Given the description of an element on the screen output the (x, y) to click on. 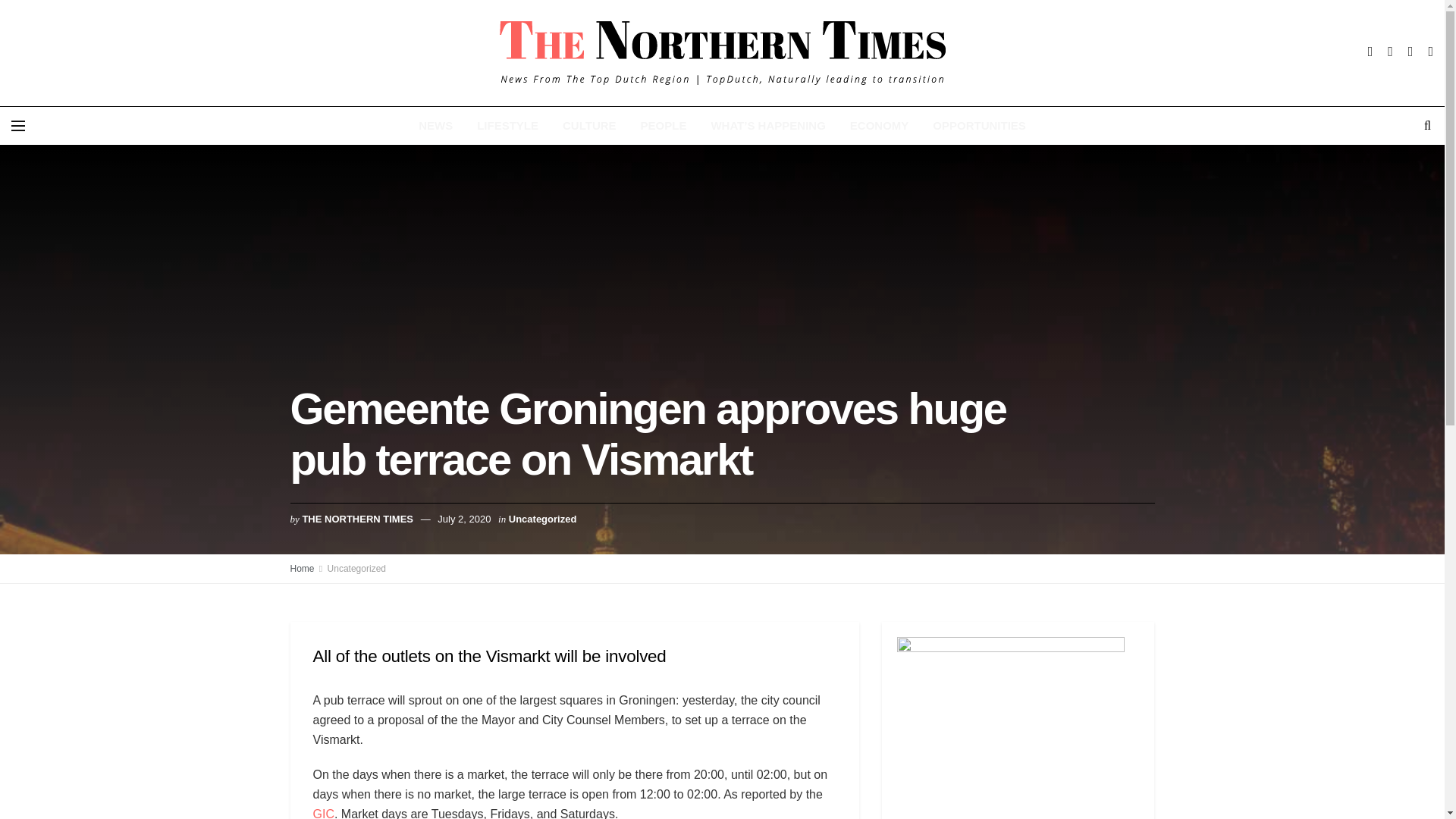
NEWS (435, 125)
PEOPLE (663, 125)
Home (301, 568)
LIFESTYLE (507, 125)
CULTURE (589, 125)
Uncategorized (542, 518)
July 2, 2020 (464, 518)
Uncategorized (356, 568)
THE NORTHERN TIMES (357, 518)
GIC (323, 813)
